Given the description of an element on the screen output the (x, y) to click on. 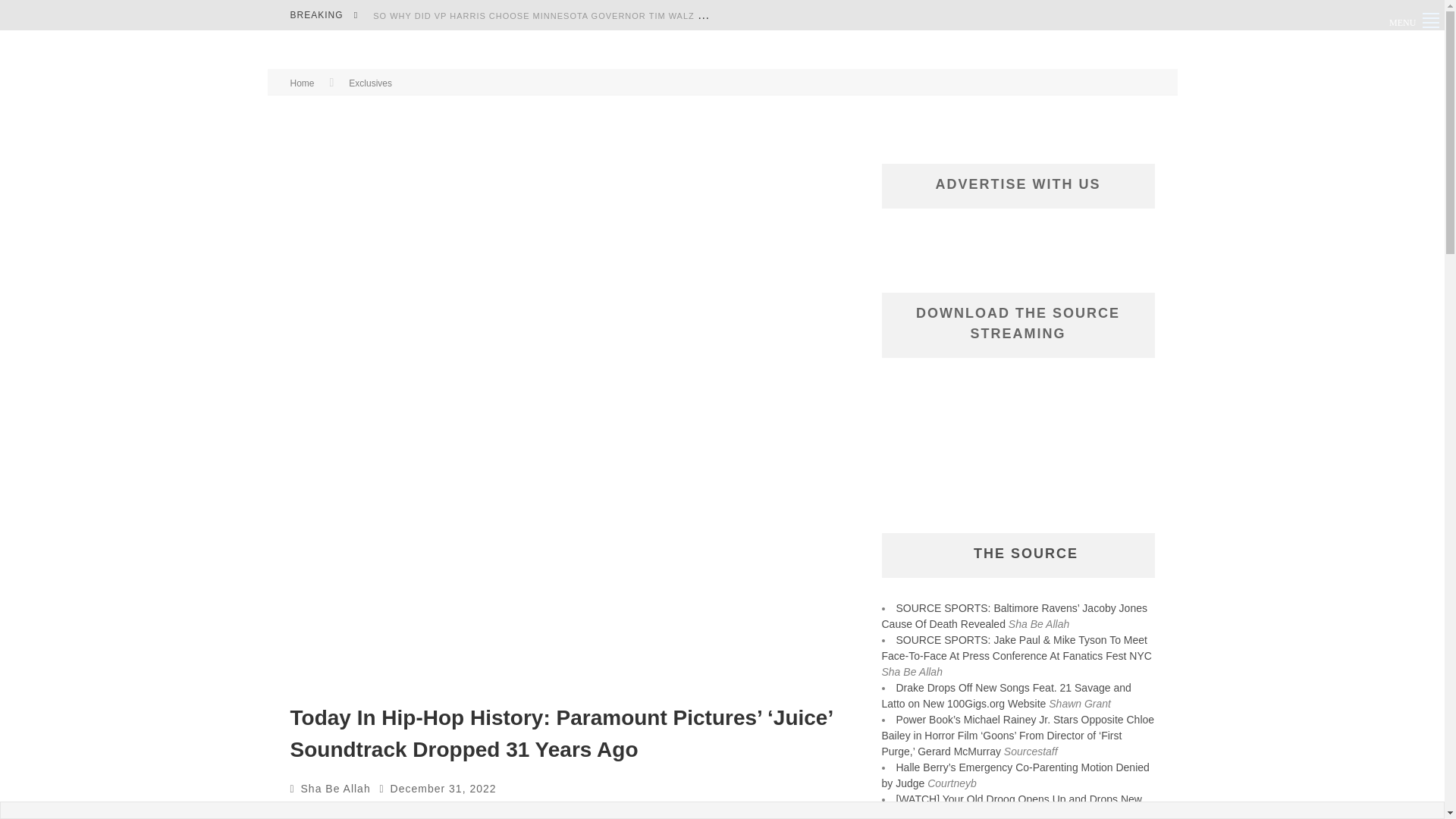
Exclusives (370, 82)
Hip hop news (500, 811)
Home (301, 82)
featured (434, 811)
View all posts in News Exclusives (547, 812)
View all posts in Exclusives (329, 811)
Exclusives (329, 811)
View all posts in feature (384, 811)
View all posts in Exclusives (370, 82)
News Exclusives (547, 812)
View all posts in Hip hop news (500, 811)
View all posts in featured (434, 811)
